Given the description of an element on the screen output the (x, y) to click on. 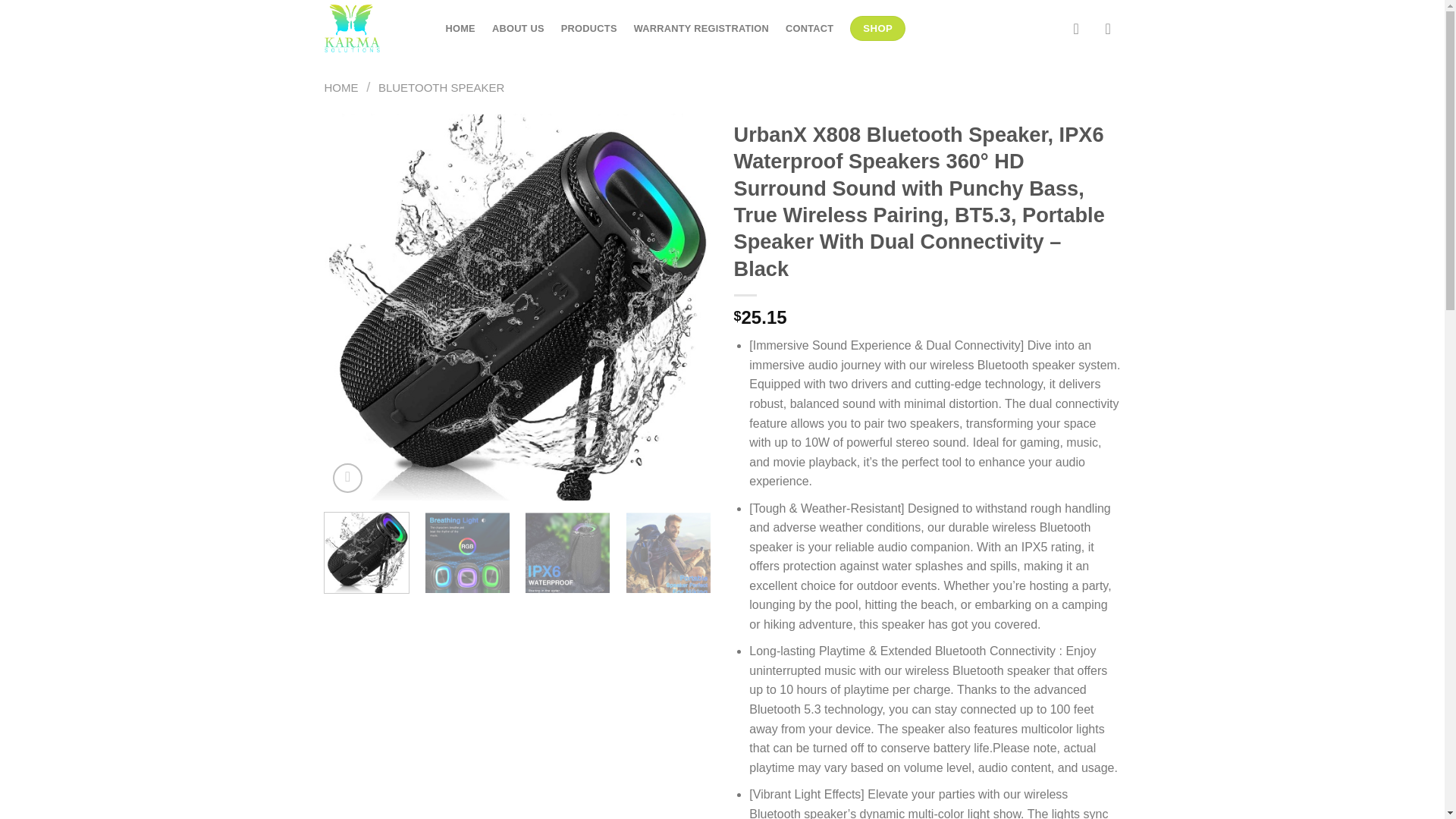
CONTACT (809, 28)
BLUETOOTH SPEAKER (440, 87)
PRODUCTS (588, 28)
HOME (341, 87)
HOME (460, 28)
Karma Solutions (373, 28)
WARRANTY REGISTRATION (700, 28)
ABOUT US (518, 28)
SHOP (877, 28)
